Given the description of an element on the screen output the (x, y) to click on. 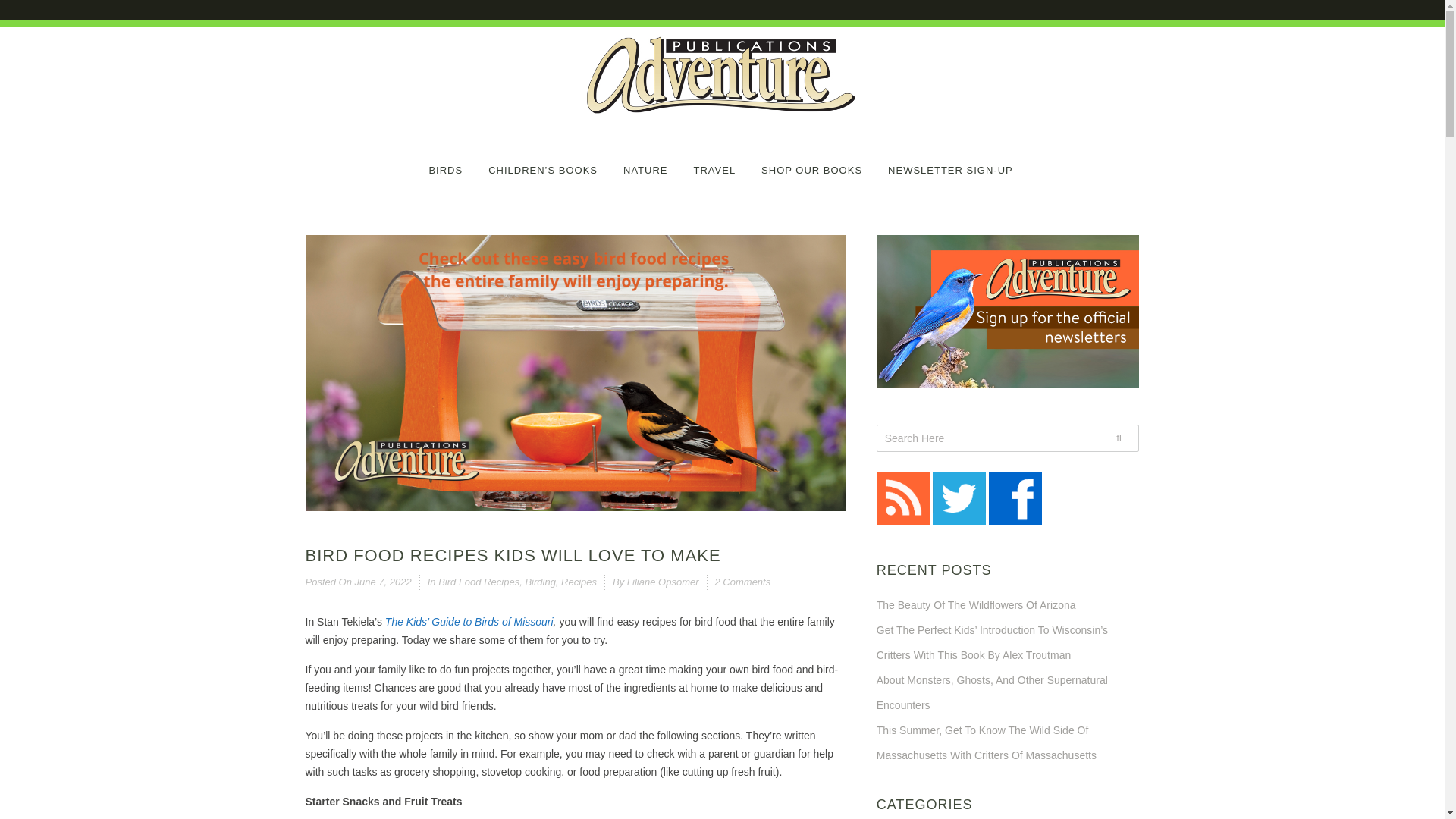
Recipes (578, 582)
NEWSLETTER SIGN-UP (950, 161)
2 Comments (742, 582)
Liliane Opsomer (662, 582)
SHOP OUR BOOKS (811, 161)
Birding (539, 582)
Bird Food Recipes (478, 582)
